Given the description of an element on the screen output the (x, y) to click on. 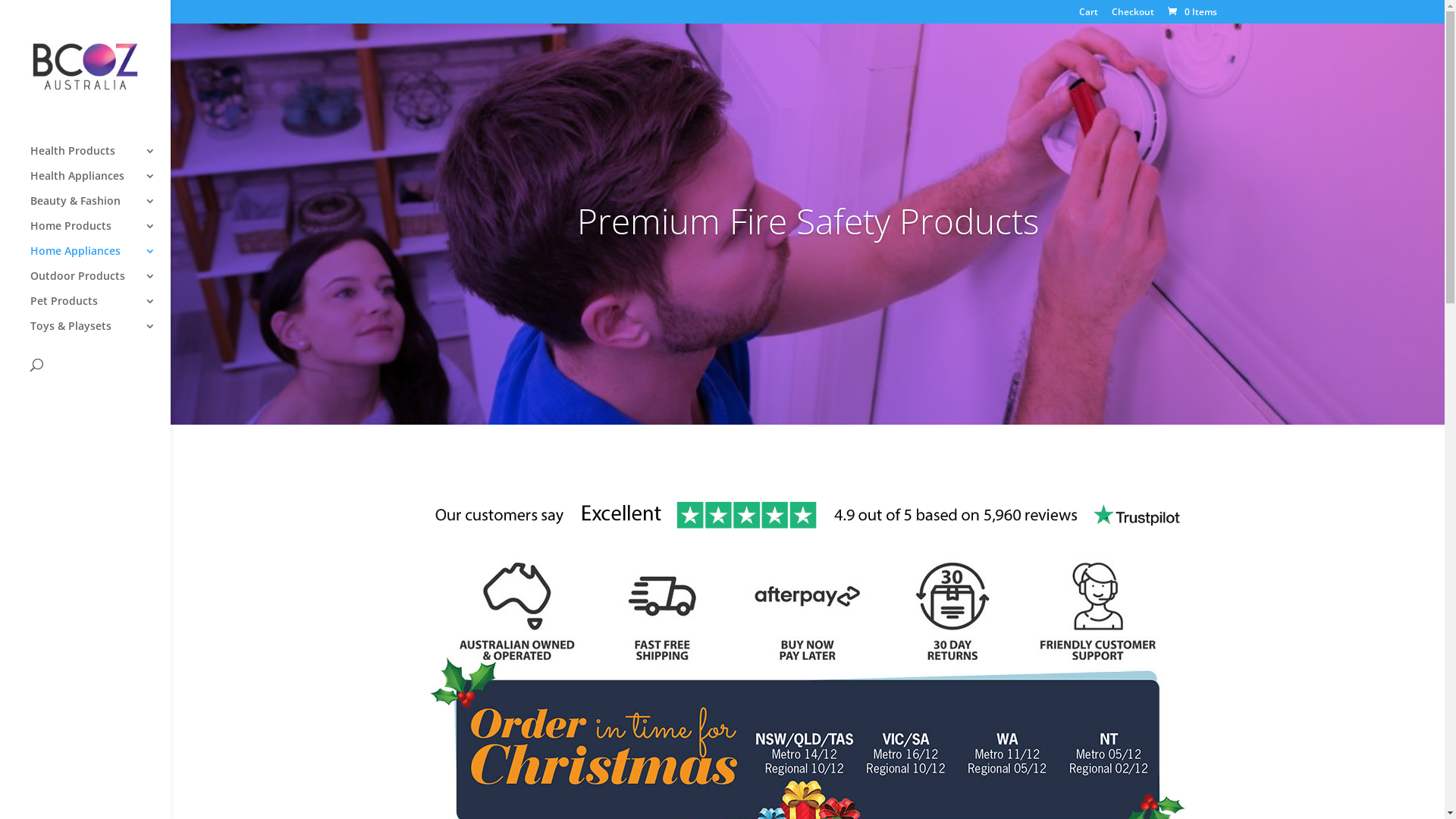
Home Products Element type: text (100, 232)
Health Products Element type: text (100, 157)
Home Appliances Element type: text (100, 257)
Beauty & Fashion Element type: text (100, 207)
Pet Products Element type: text (100, 307)
Health Appliances Element type: text (100, 182)
Checkout Element type: text (1132, 15)
Cart Element type: text (1088, 15)
Toys & Playsets Element type: text (100, 332)
Outdoor Products Element type: text (100, 282)
0 Items Element type: text (1191, 11)
